Given the description of an element on the screen output the (x, y) to click on. 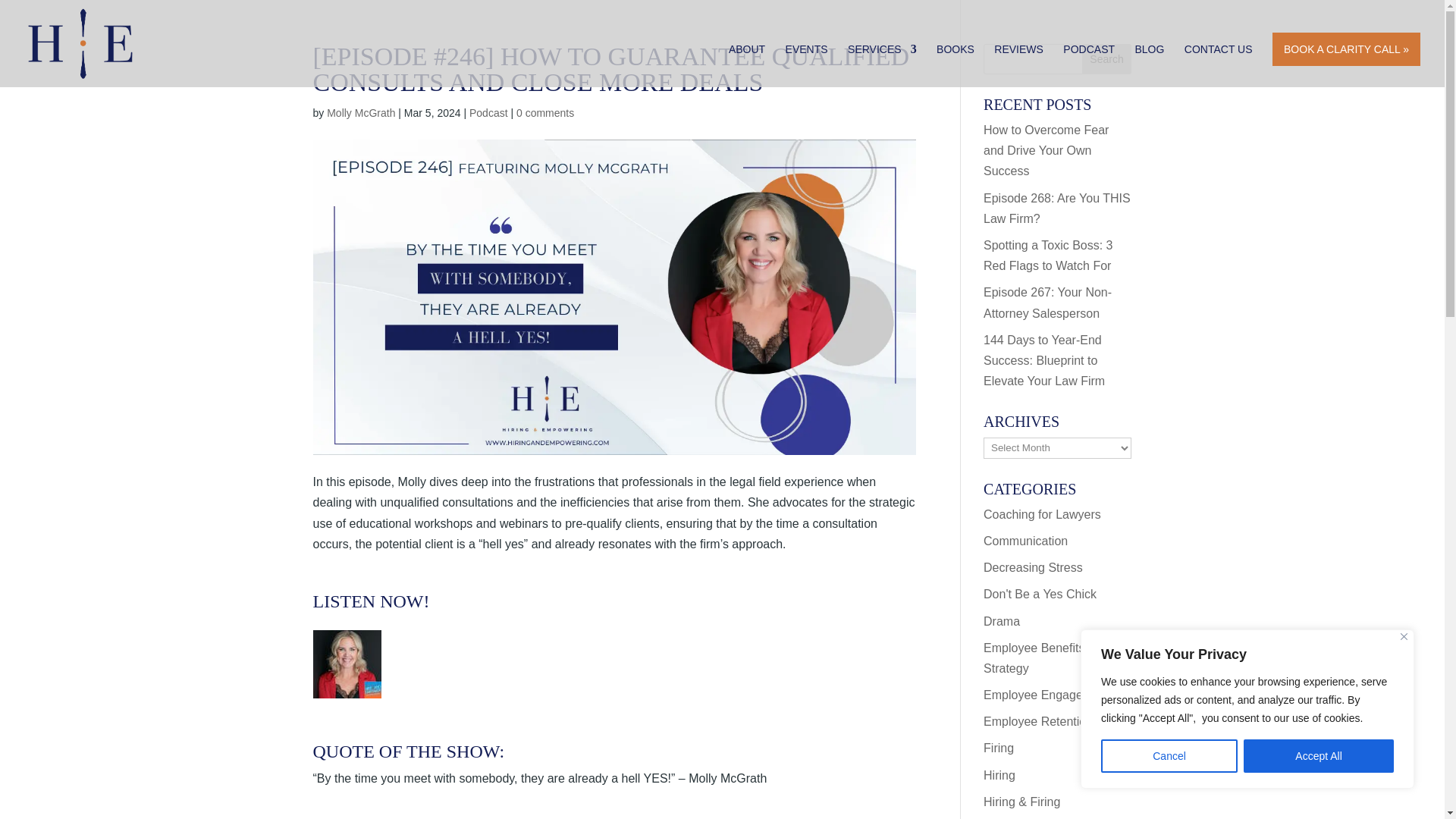
REVIEWS (1018, 65)
EVENTS (807, 65)
Molly McGrath (360, 112)
Podcast (488, 112)
PODCAST (1088, 65)
CONTACT US (1218, 65)
Posts by Molly McGrath (360, 112)
Search (1106, 59)
SERVICES (882, 65)
